Given the description of an element on the screen output the (x, y) to click on. 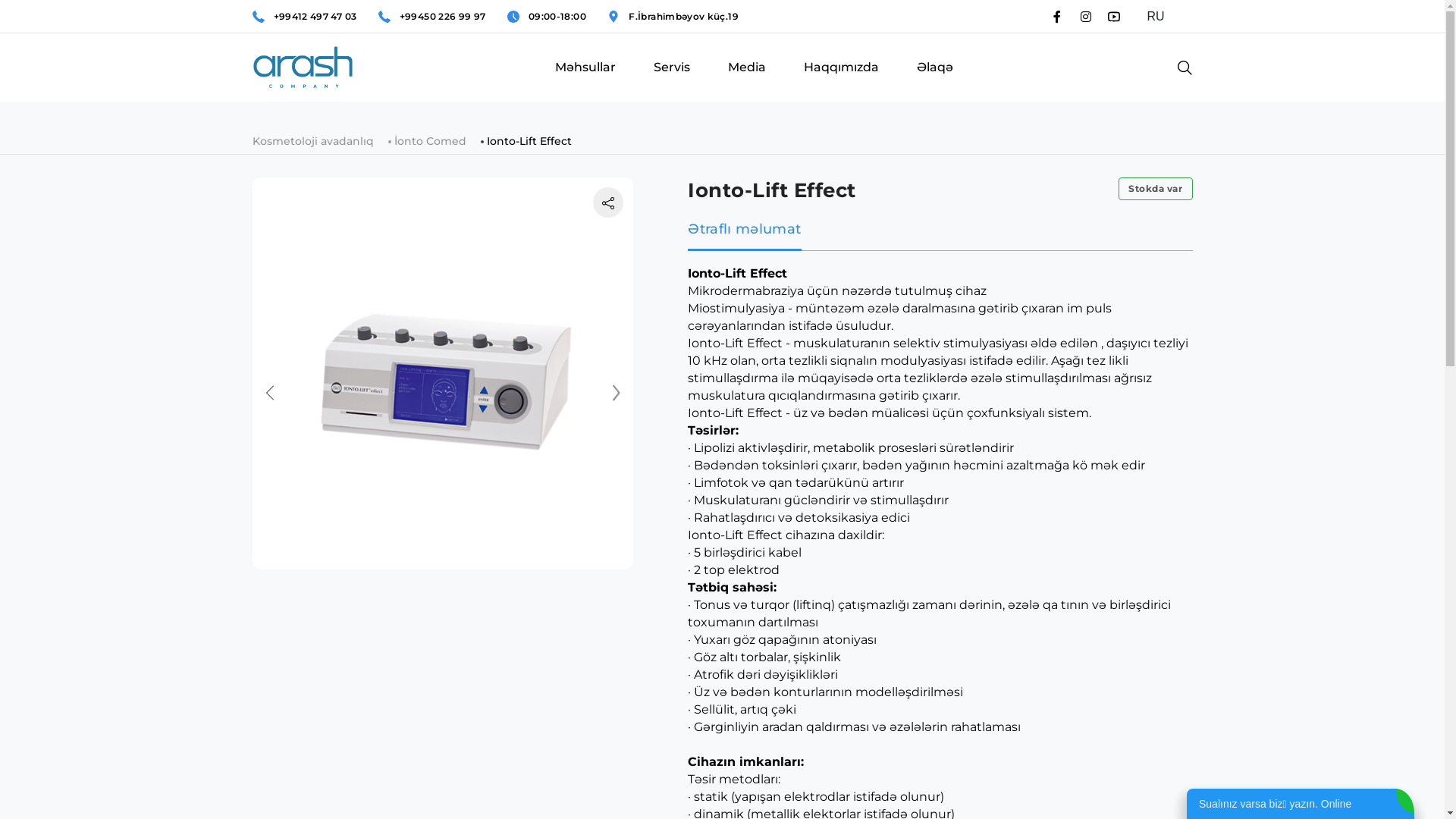
+99450 226 99 97 Element type: text (442, 16)
Ionto-Lift Effect Element type: text (528, 140)
+99412 497 47 03 Element type: text (314, 16)
RU Element type: text (1163, 16)
09:00-18:00 Element type: text (557, 16)
Servis Element type: text (671, 81)
Media Element type: text (746, 81)
